Given the description of an element on the screen output the (x, y) to click on. 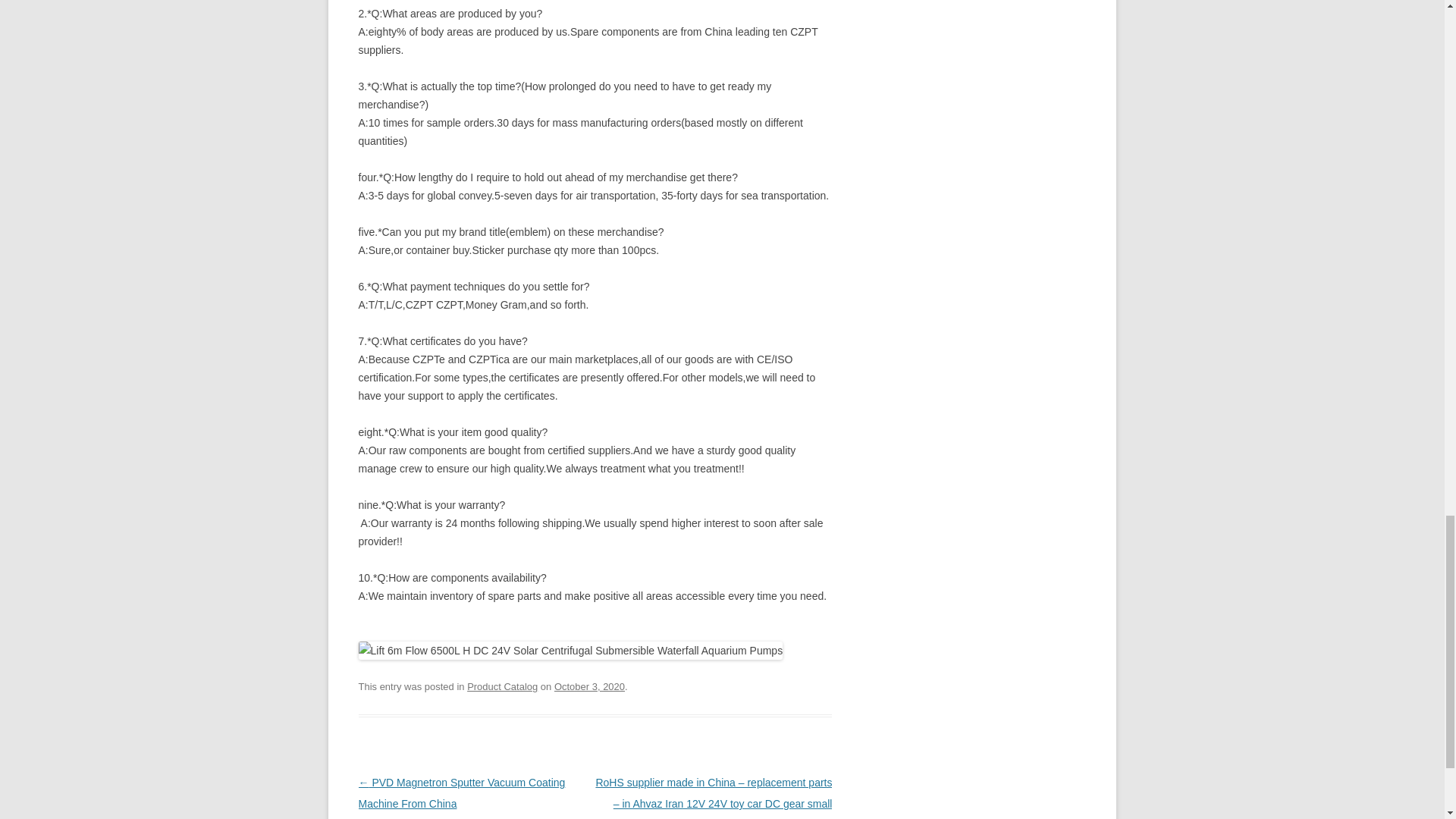
Product Catalog (502, 686)
2:39 pm (589, 686)
October 3, 2020 (589, 686)
